Given the description of an element on the screen output the (x, y) to click on. 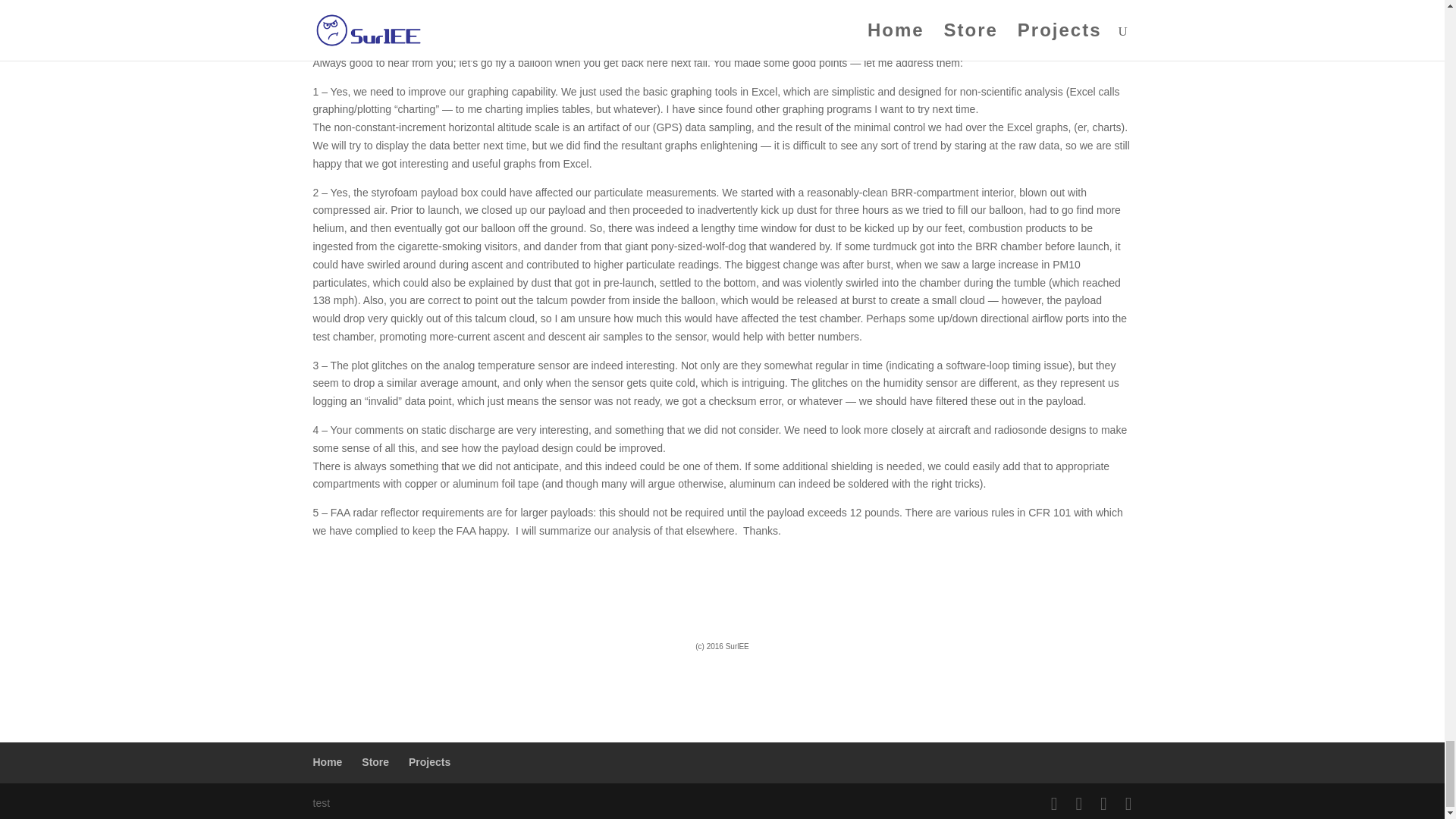
Store (374, 761)
Projects (429, 761)
Home (327, 761)
